Given the description of an element on the screen output the (x, y) to click on. 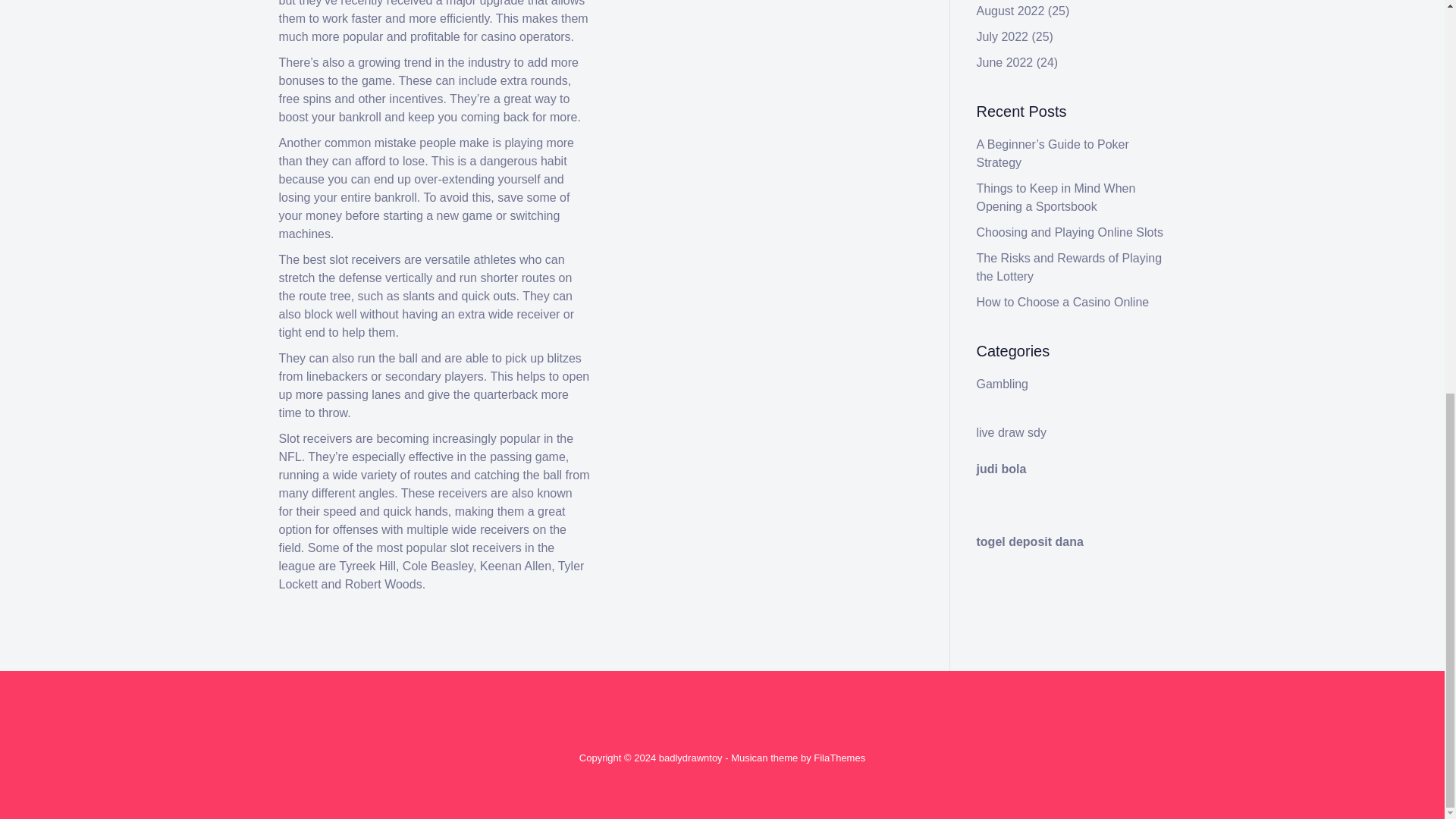
Gambling (1001, 383)
July 2022 (1002, 36)
How to Choose a Casino Online (1063, 301)
June 2022 (1004, 62)
The Risks and Rewards of Playing the Lottery (1068, 266)
Things to Keep in Mind When Opening a Sportsbook (1055, 196)
badlydrawntoy (690, 757)
judi bola (1001, 468)
Choosing and Playing Online Slots (1069, 232)
live draw sdy (1011, 431)
August 2022 (1010, 10)
